Given the description of an element on the screen output the (x, y) to click on. 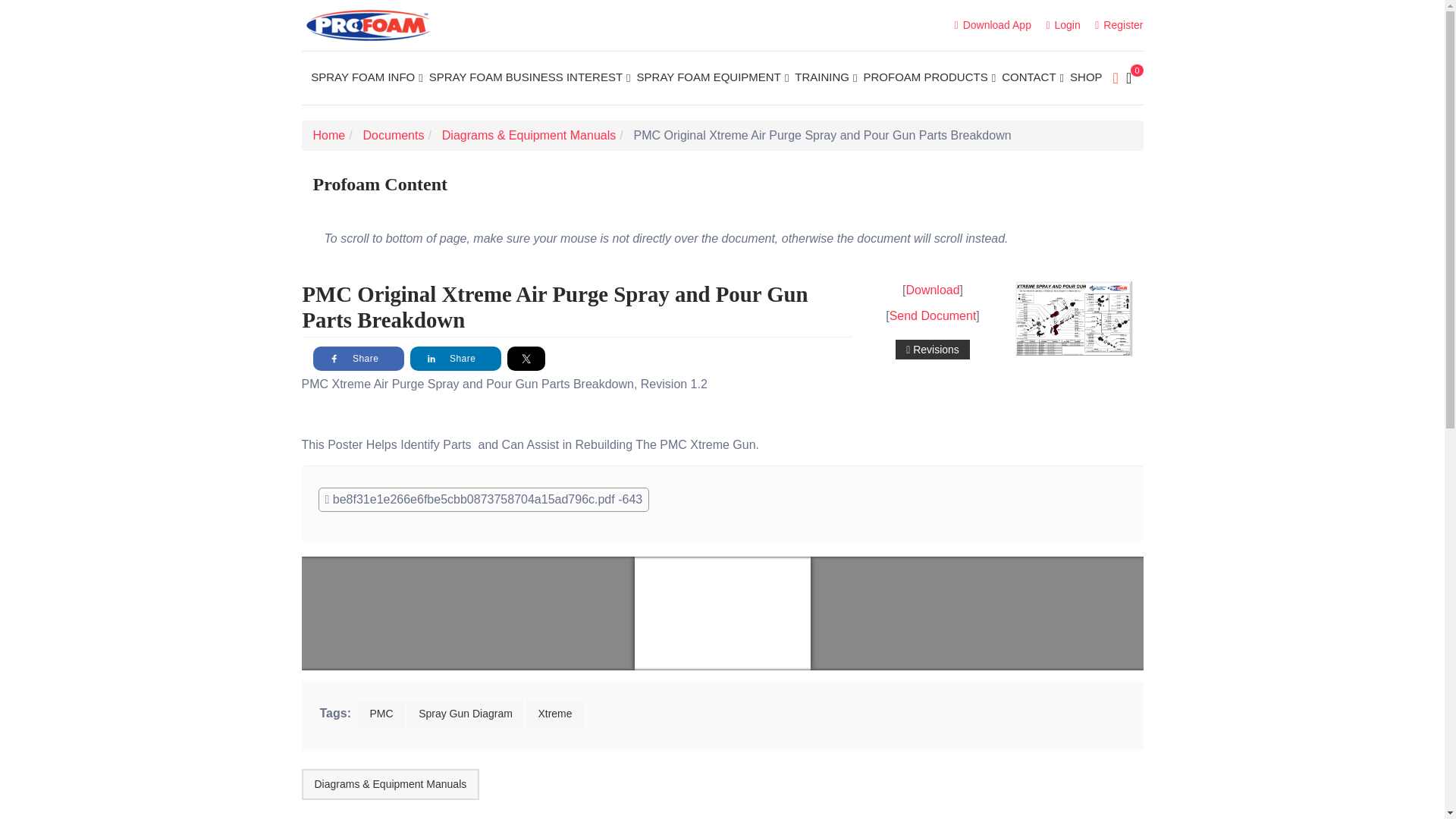
TRAINING (826, 77)
Register (1118, 24)
SPRAY FOAM INFO (366, 77)
Login (1062, 24)
PROFOAM PRODUCTS (929, 77)
Download App (992, 24)
SPRAY FOAM EQUIPMENT (712, 77)
SPRAY FOAM BUSINESS INTEREST (529, 77)
